Given the description of an element on the screen output the (x, y) to click on. 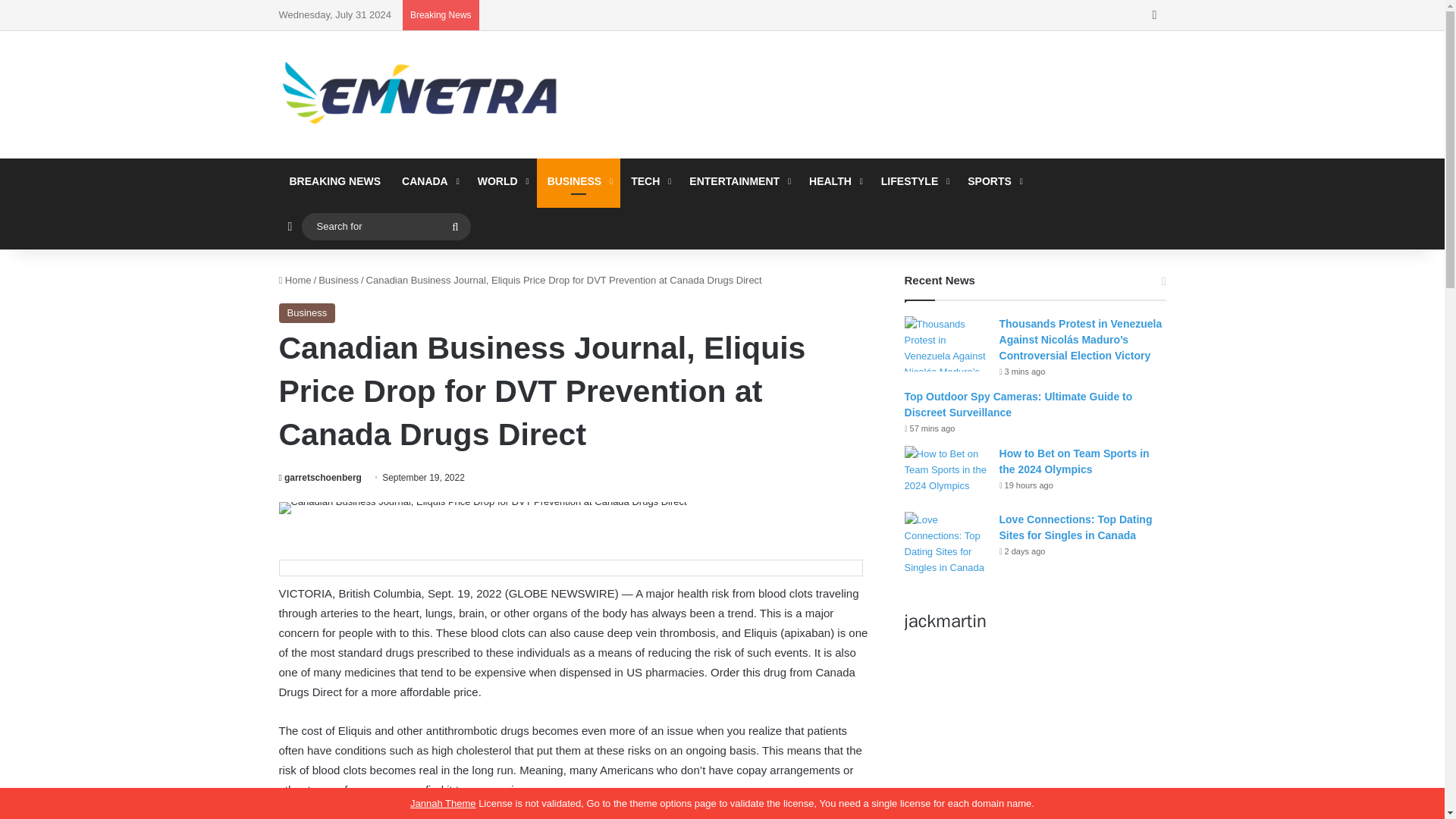
LIFESTYLE (913, 180)
Eminetra Canada (419, 94)
TECH (649, 180)
Search for (385, 225)
Search for (454, 225)
BREAKING NEWS (335, 180)
Business (307, 312)
BUSINESS (579, 180)
Business (338, 279)
HEALTH (833, 180)
ENTERTAINMENT (737, 180)
SPORTS (993, 180)
garretschoenberg (320, 477)
CANADA (429, 180)
